Given the description of an element on the screen output the (x, y) to click on. 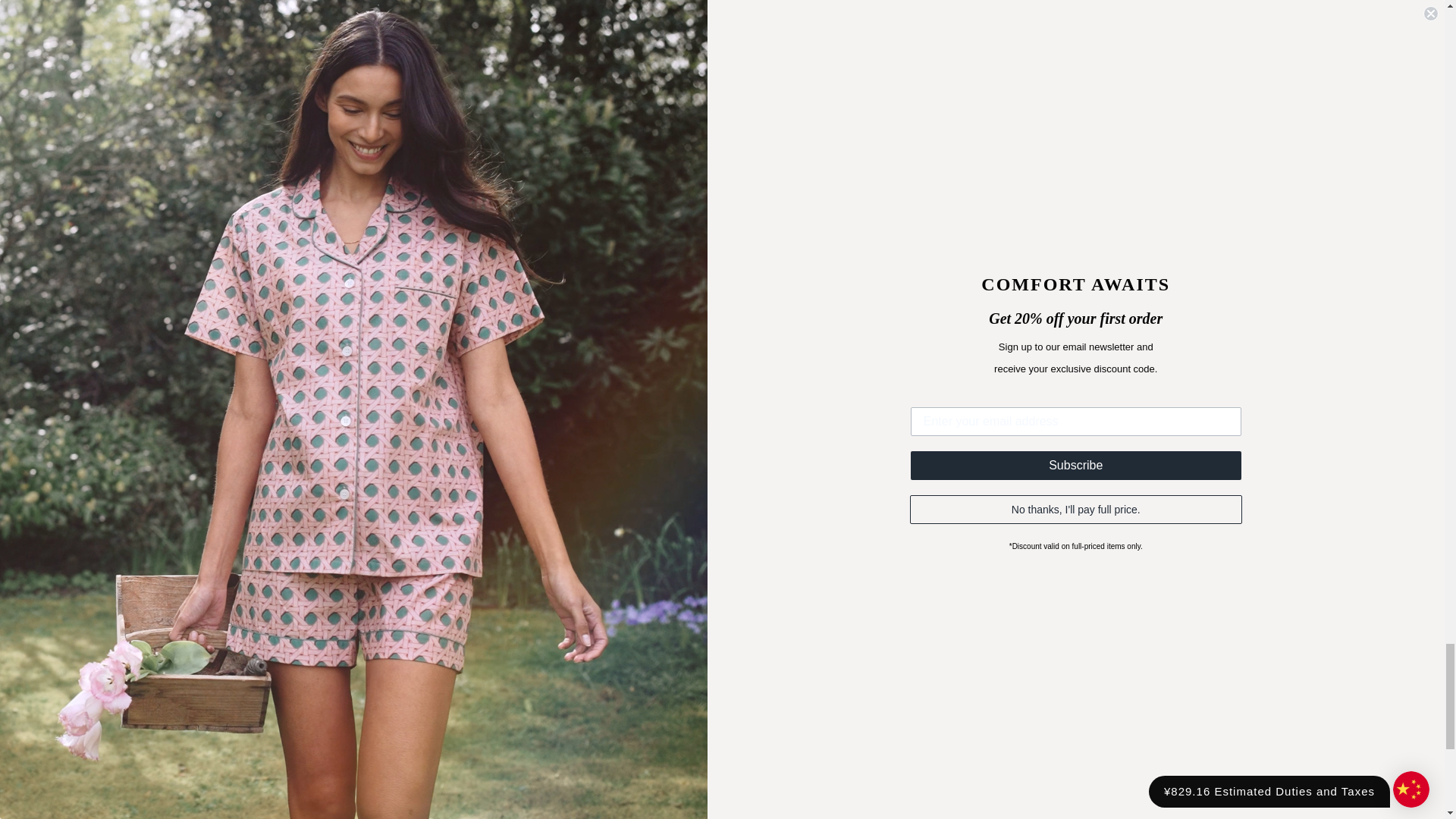
Facebook (75, 732)
Twitter (46, 732)
